Given the description of an element on the screen output the (x, y) to click on. 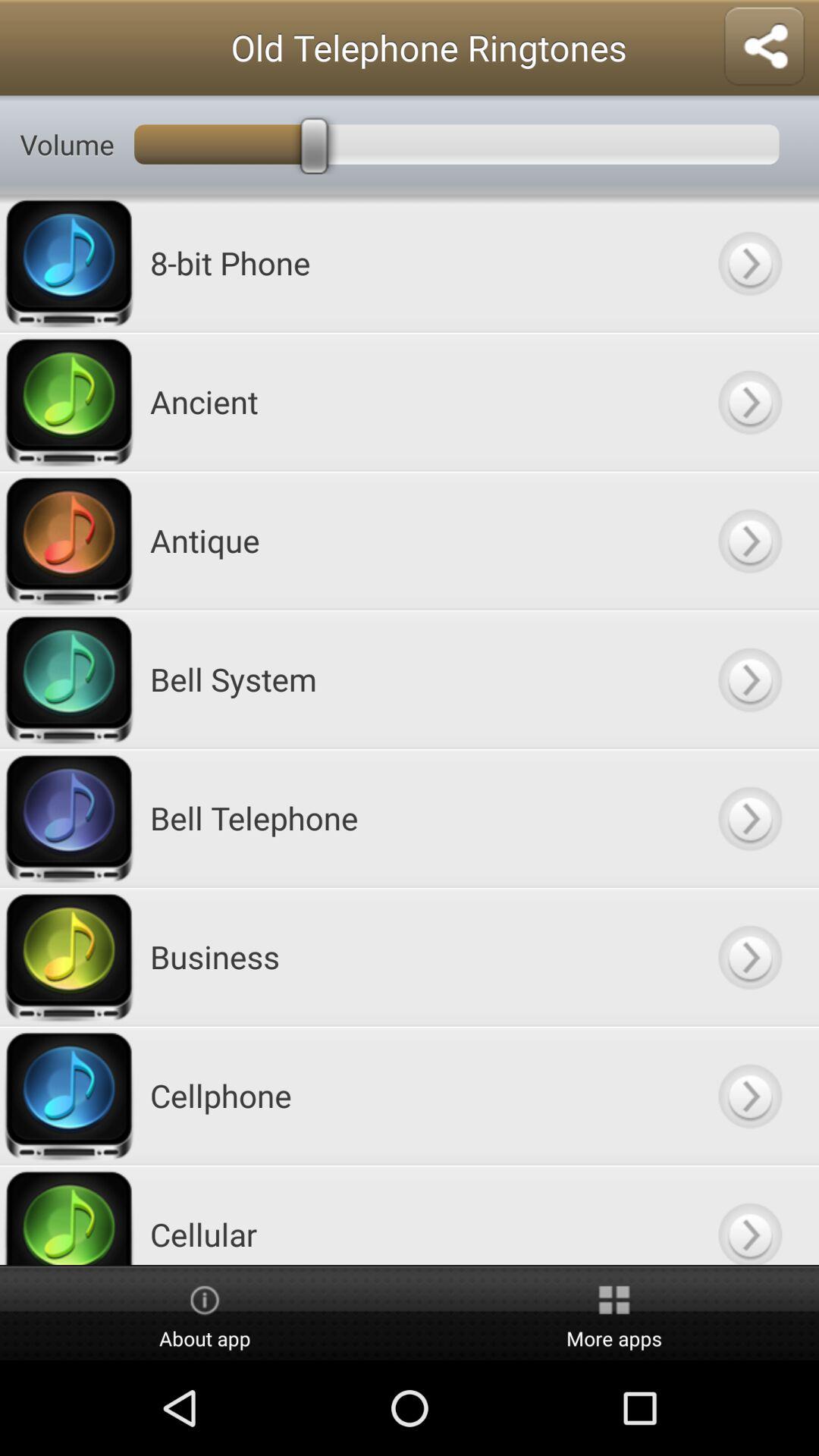
open the selected ringtone page (749, 1095)
